Given the description of an element on the screen output the (x, y) to click on. 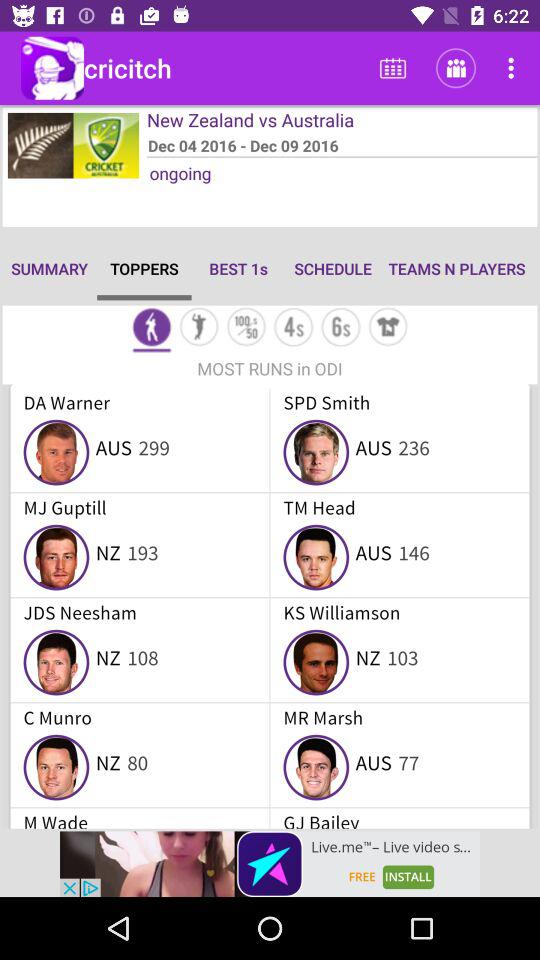
hide button (387, 328)
